Given the description of an element on the screen output the (x, y) to click on. 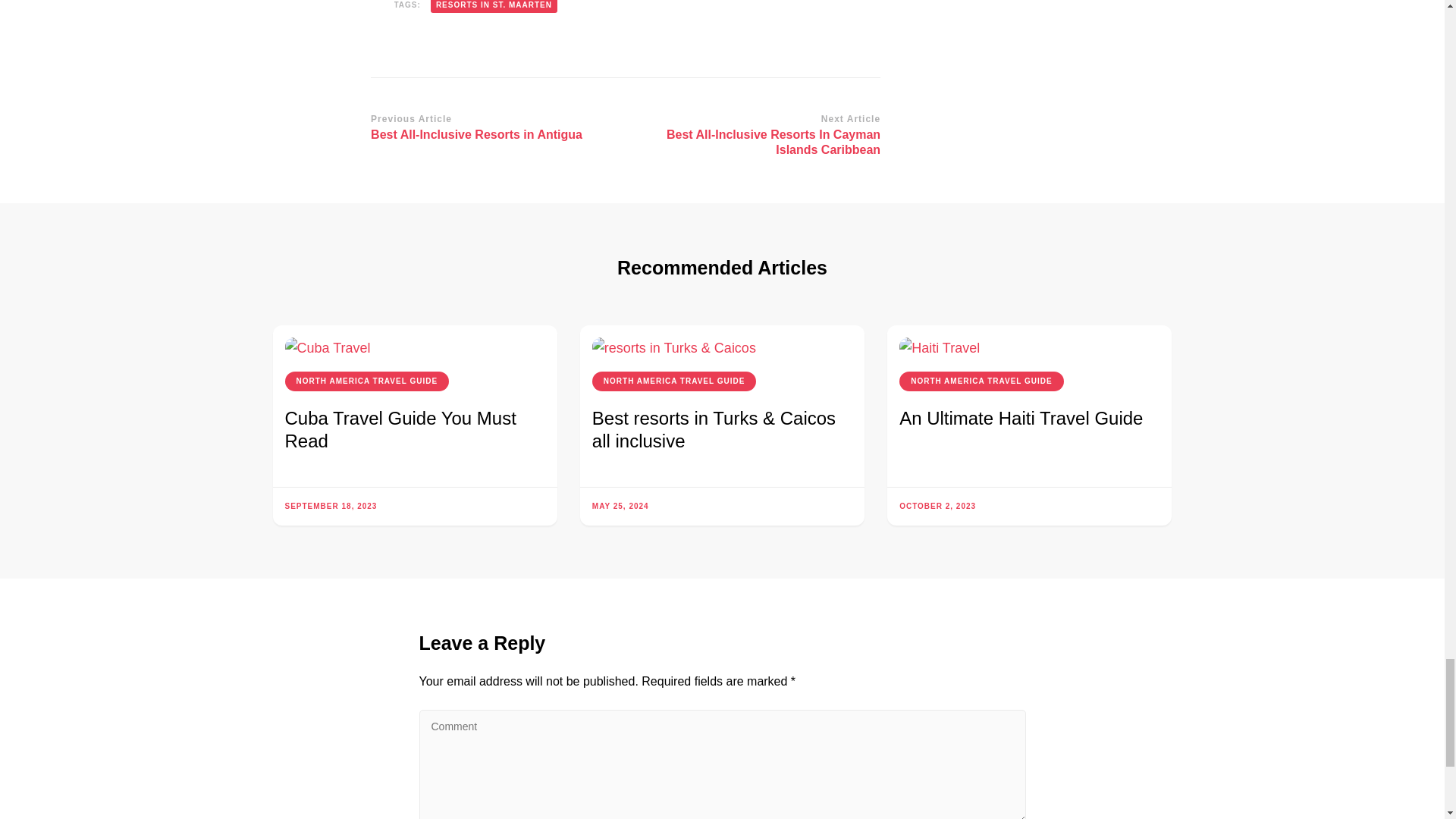
RESORTS IN ST. MAARTEN (493, 128)
